Given the description of an element on the screen output the (x, y) to click on. 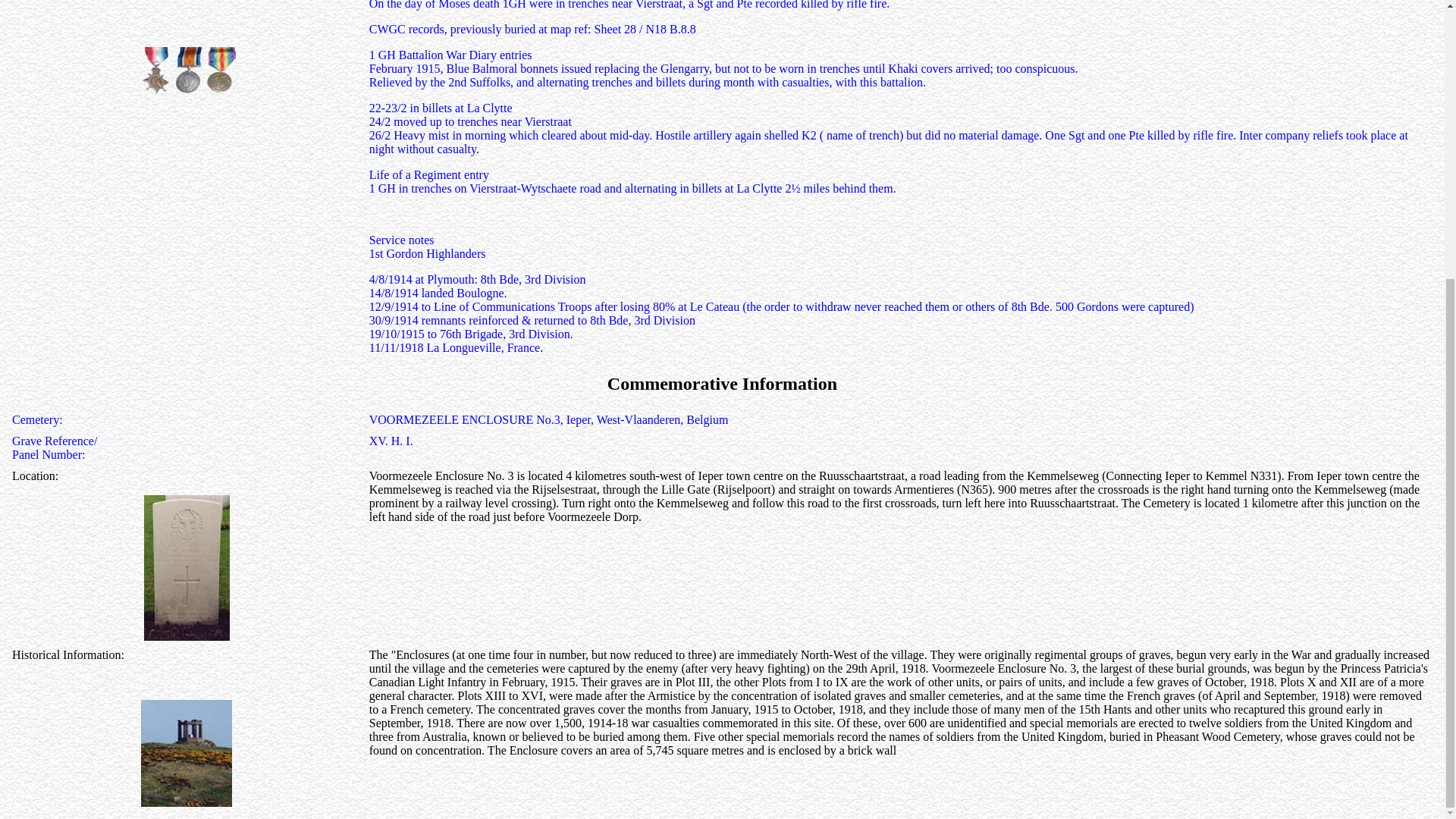
VOORMEZEELE ENCLOSURE No.3, Ieper, West-Vlaanderen, Belgium (549, 419)
XV. H. I. (391, 440)
Cemetery: (36, 419)
